Given the description of an element on the screen output the (x, y) to click on. 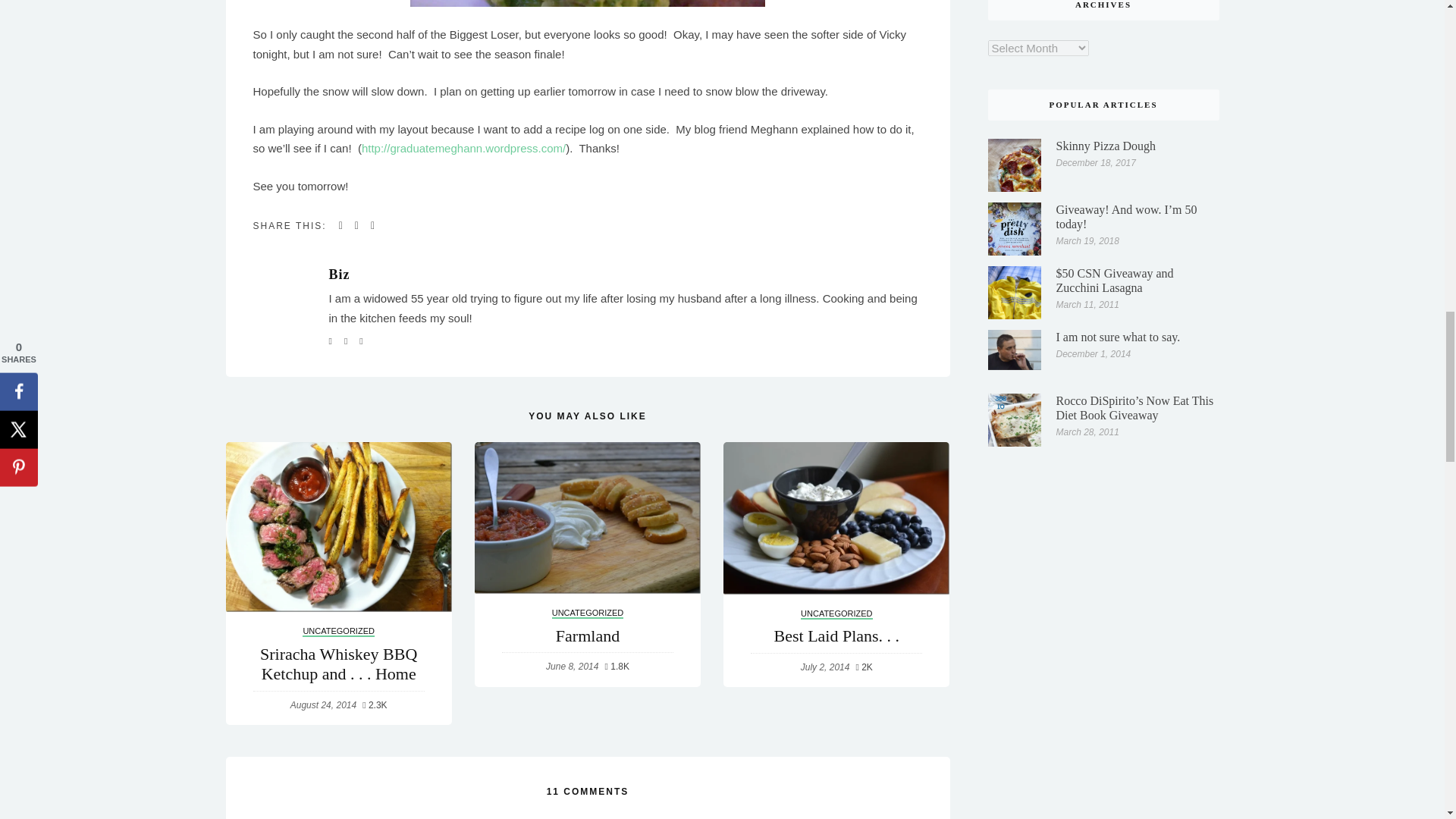
Sriracha Whiskey BBQ Ketchup and . . . Home (338, 526)
Best Laid Plans. . . (836, 518)
Farmland (587, 517)
dscn3536-640x4801 (587, 3)
